Given the description of an element on the screen output the (x, y) to click on. 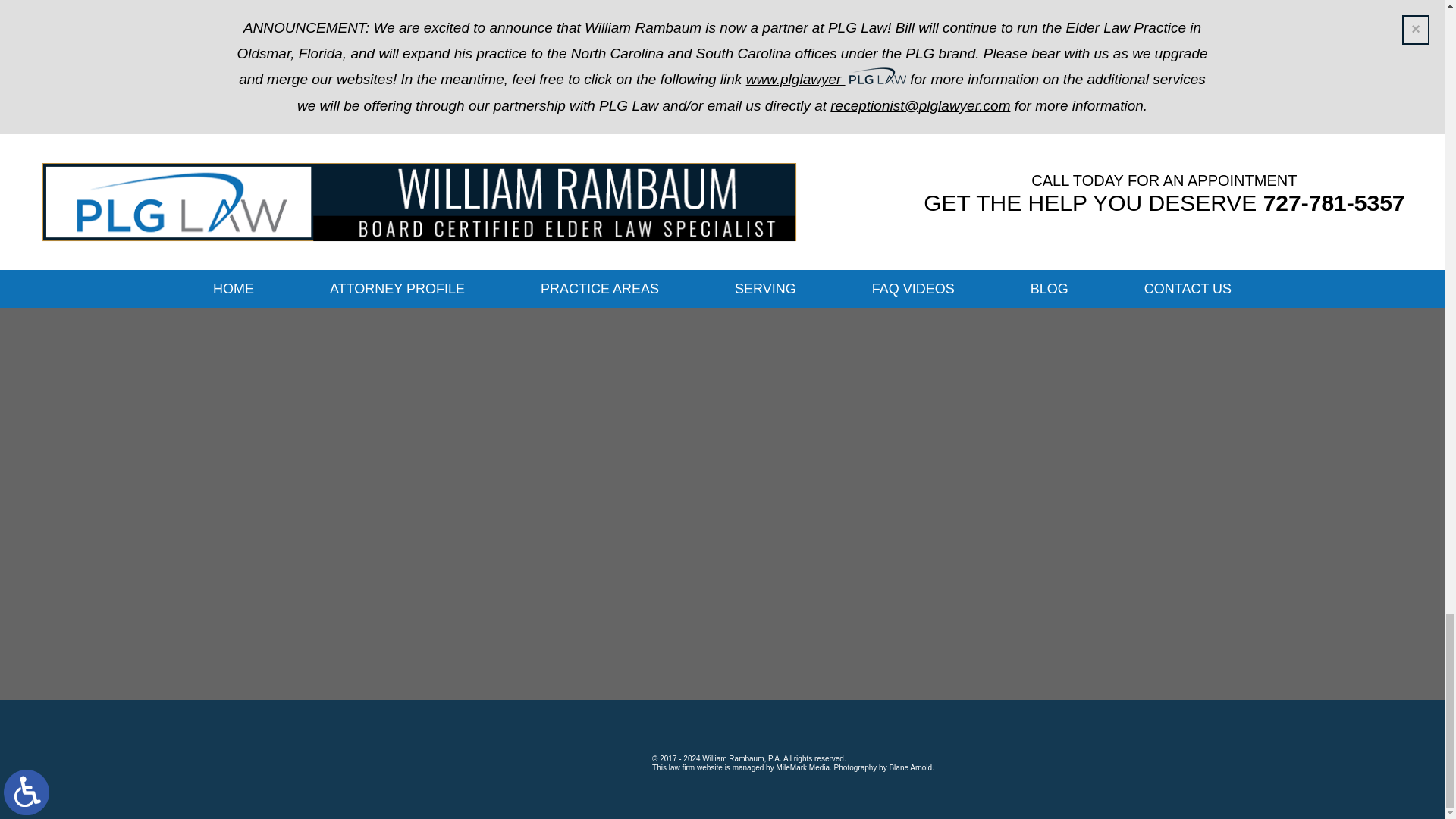
MileMark Media (574, 758)
